Given the description of an element on the screen output the (x, y) to click on. 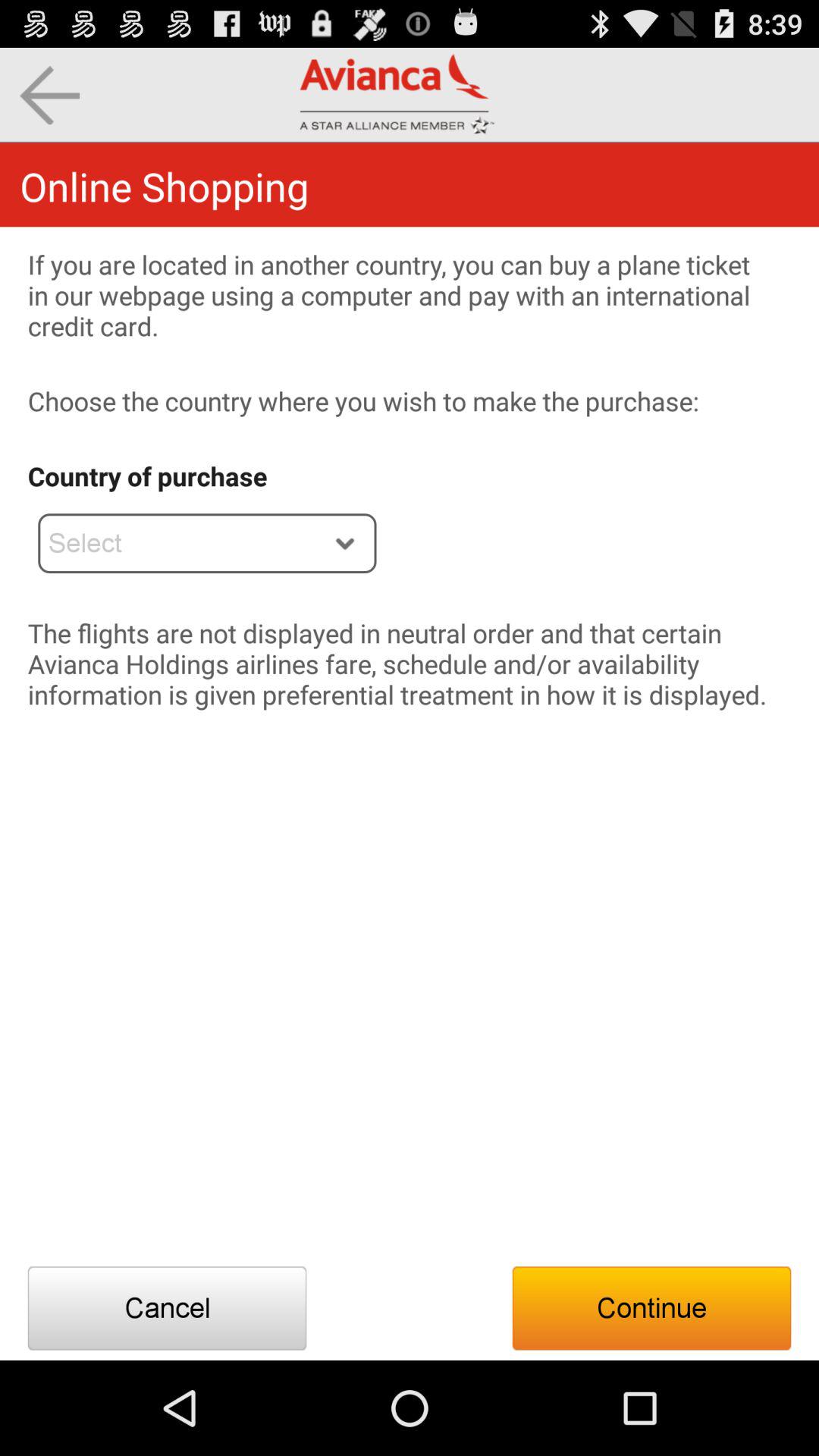
go back (49, 94)
